Given the description of an element on the screen output the (x, y) to click on. 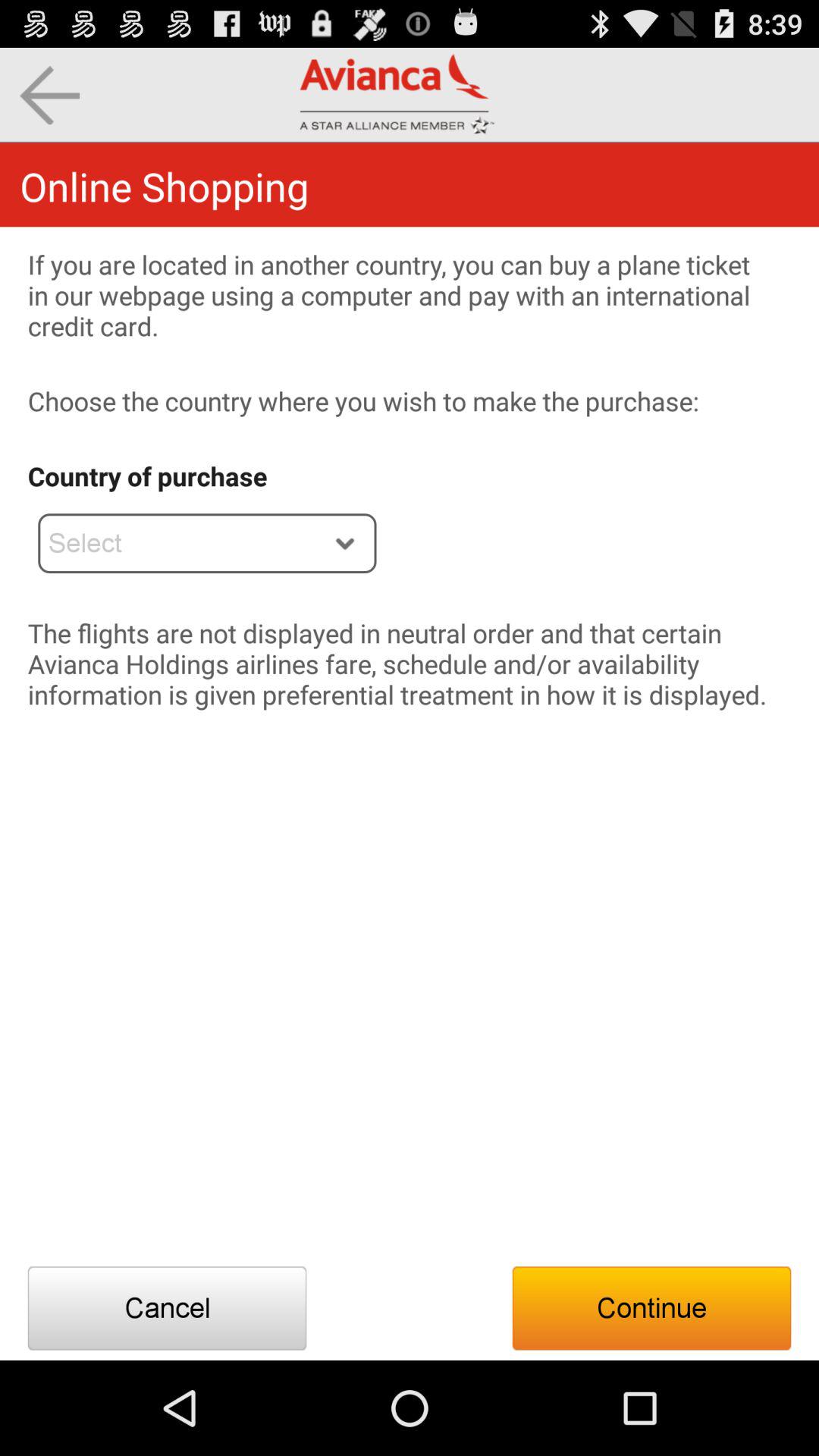
go back (49, 94)
